Given the description of an element on the screen output the (x, y) to click on. 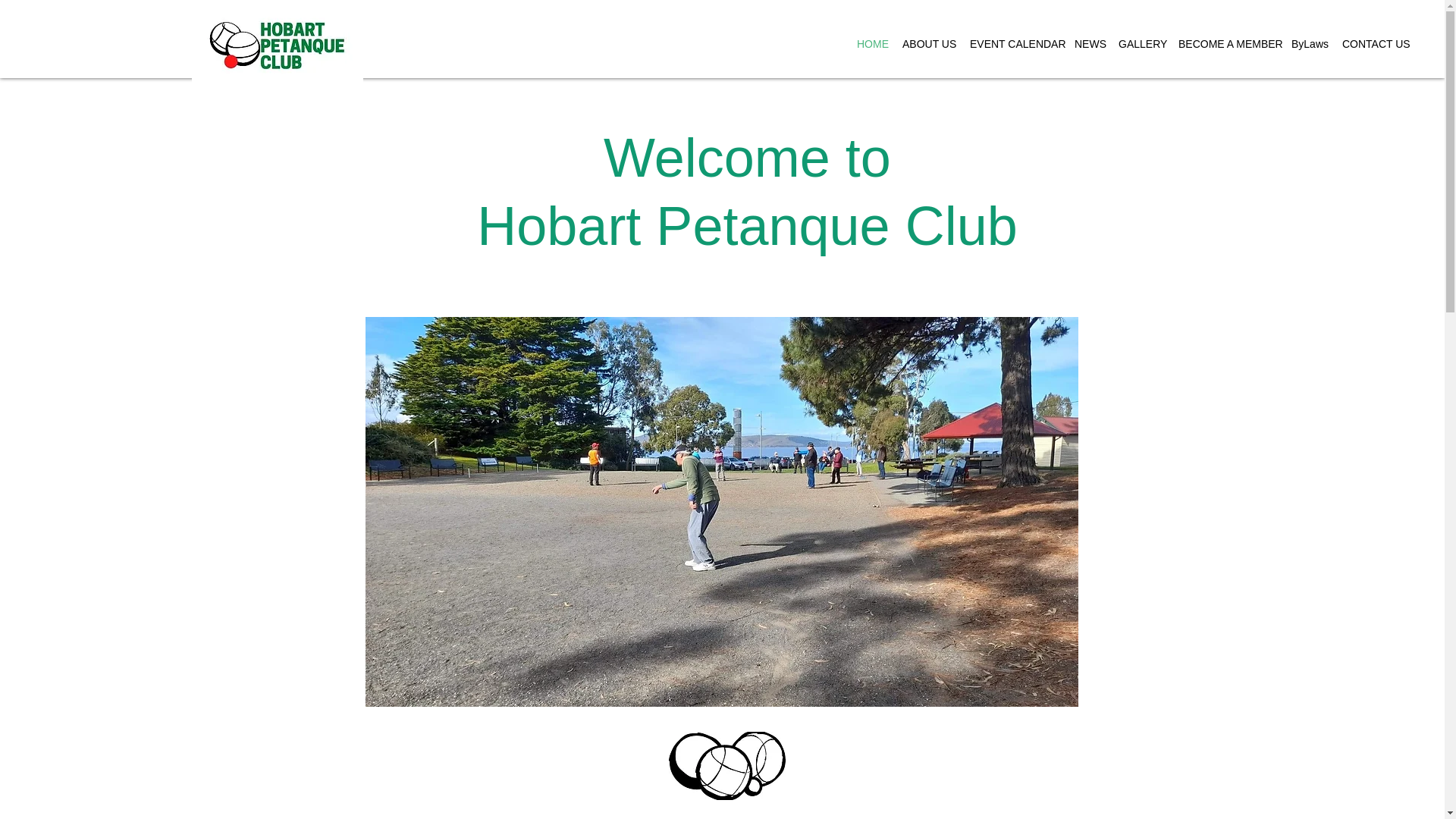
ABOUT US (928, 43)
boule-clipart-3.jpg (727, 766)
EVENT CALENDAR (1014, 43)
HOME (871, 43)
ByLaws (1309, 43)
NEWS (1088, 43)
CONTACT US (1375, 43)
GALLERY (1140, 43)
BECOME A MEMBER (1227, 43)
